Given the description of an element on the screen output the (x, y) to click on. 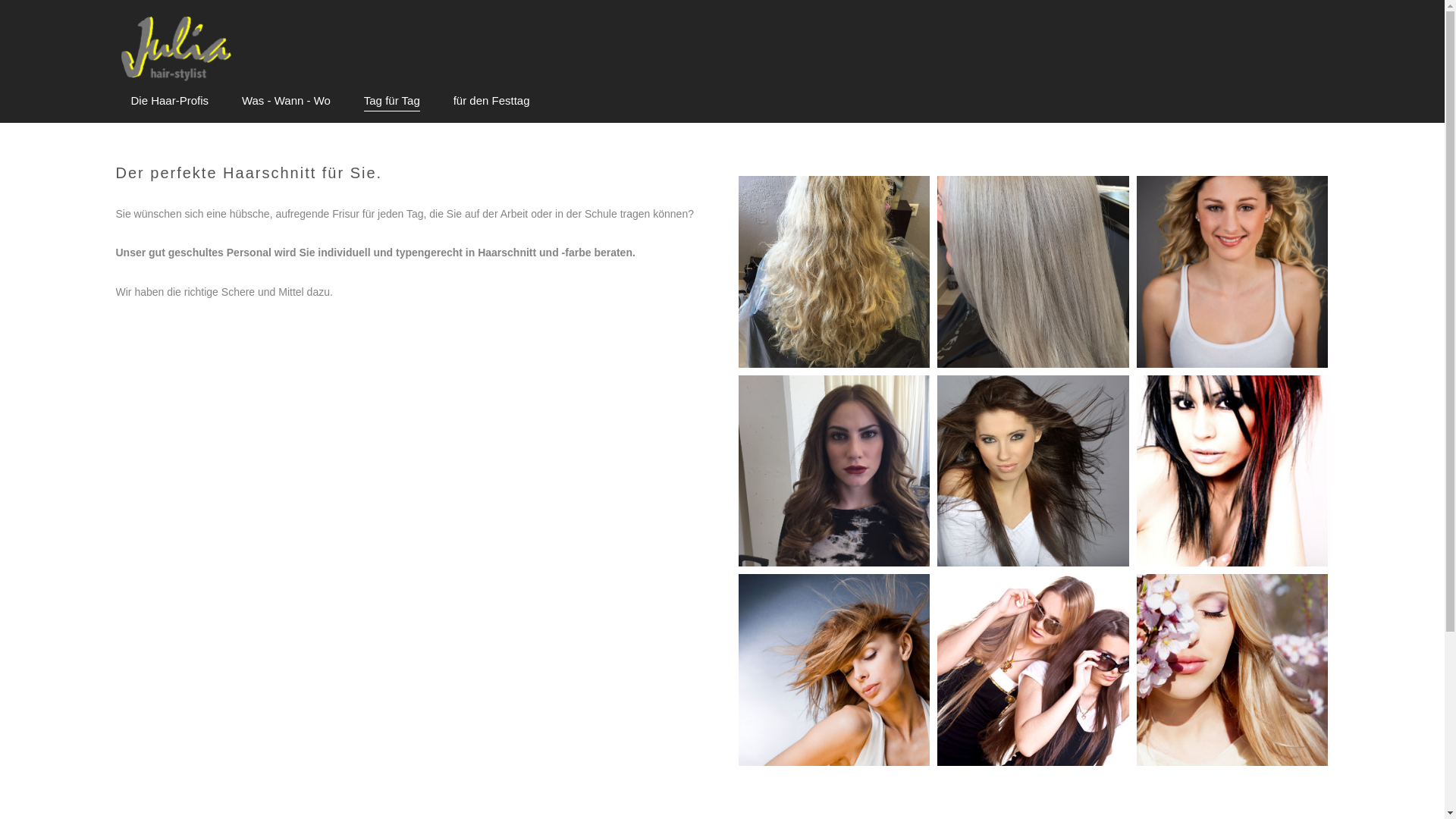
Die Haar-Profis Element type: text (169, 100)
Was - Wann - Wo Element type: text (285, 100)
